Given the description of an element on the screen output the (x, y) to click on. 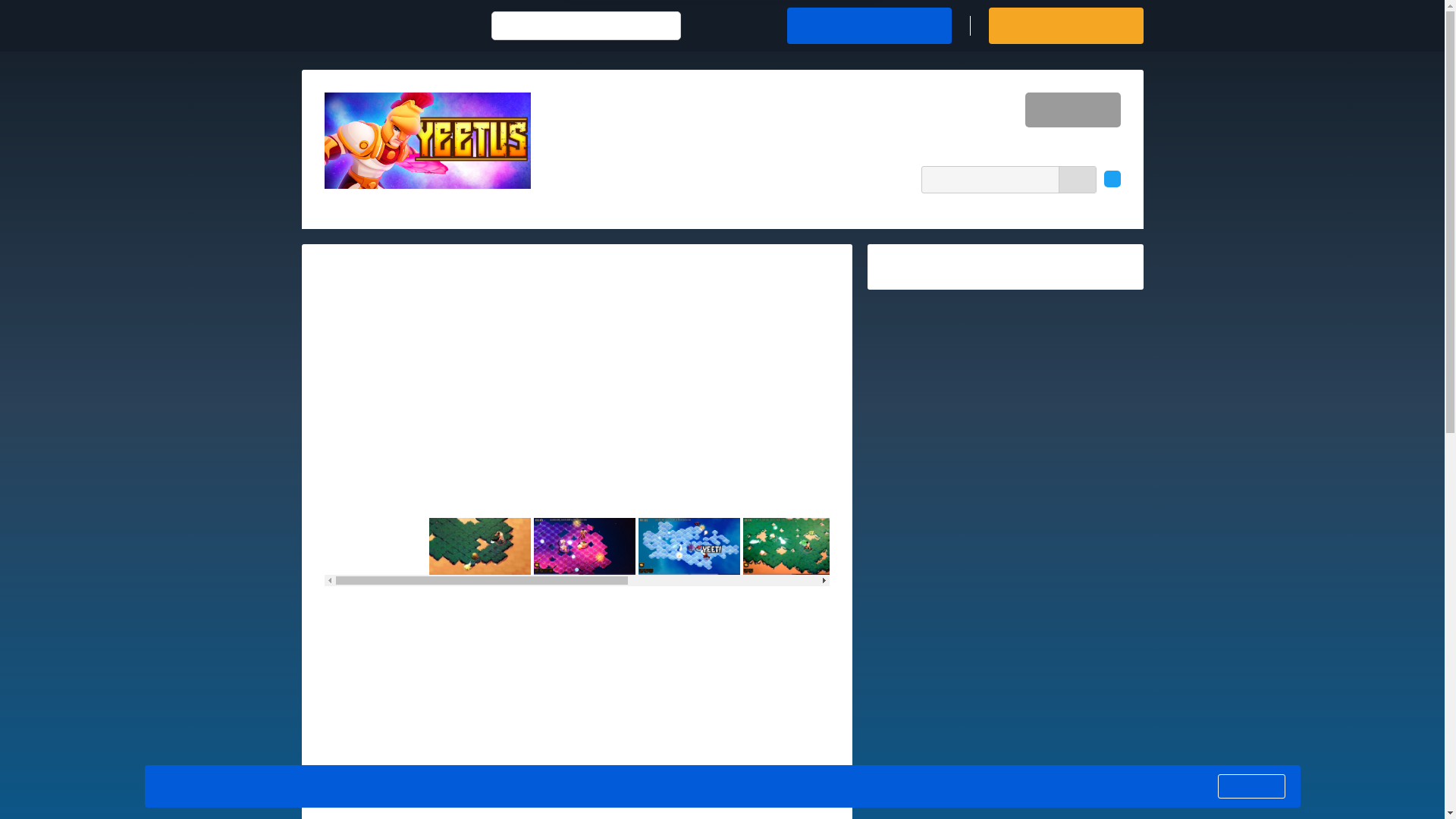
YarnCat Games (711, 114)
Understood (1250, 785)
CREATOR ACCESS (1065, 25)
COPY (1077, 179)
PUBLISHER ACCESS (869, 25)
Tweets by DYarnCat (930, 265)
FINISHED (1072, 109)
Cookies Policy (646, 785)
media preview (576, 386)
